Given the description of an element on the screen output the (x, y) to click on. 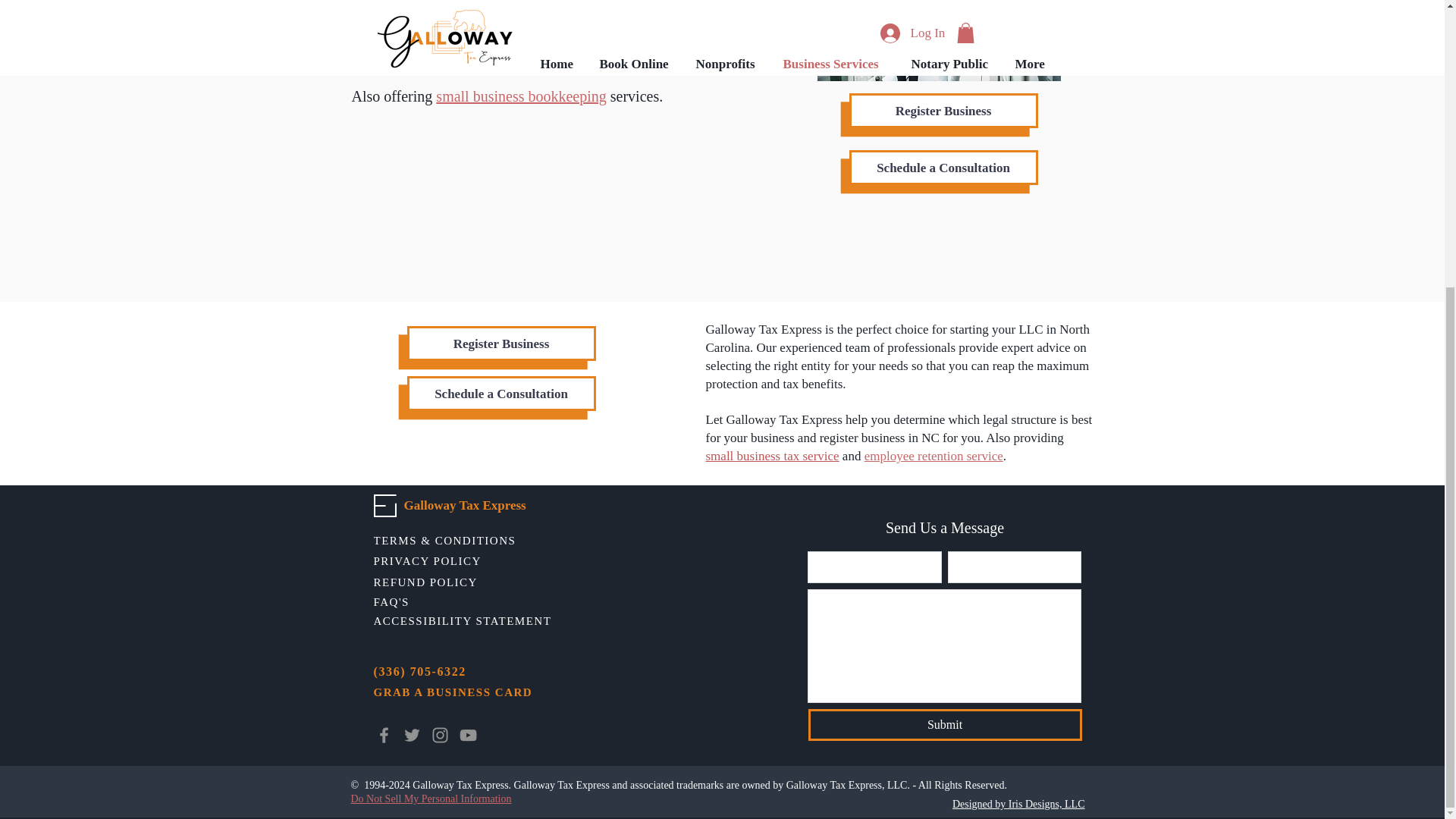
employee retention service (933, 455)
Register Business (500, 343)
Register Business (943, 110)
PRIVACY POLICY (451, 561)
Schedule a Consultation (500, 393)
small business tax service (771, 455)
Schedule a Consultation (943, 167)
ACCESSIBILITY STATEMENT (464, 620)
REFUND POLICY (451, 582)
small business bookkeeping (520, 95)
FAQ'S (451, 601)
Galloway Tax Express (464, 504)
